Given the description of an element on the screen output the (x, y) to click on. 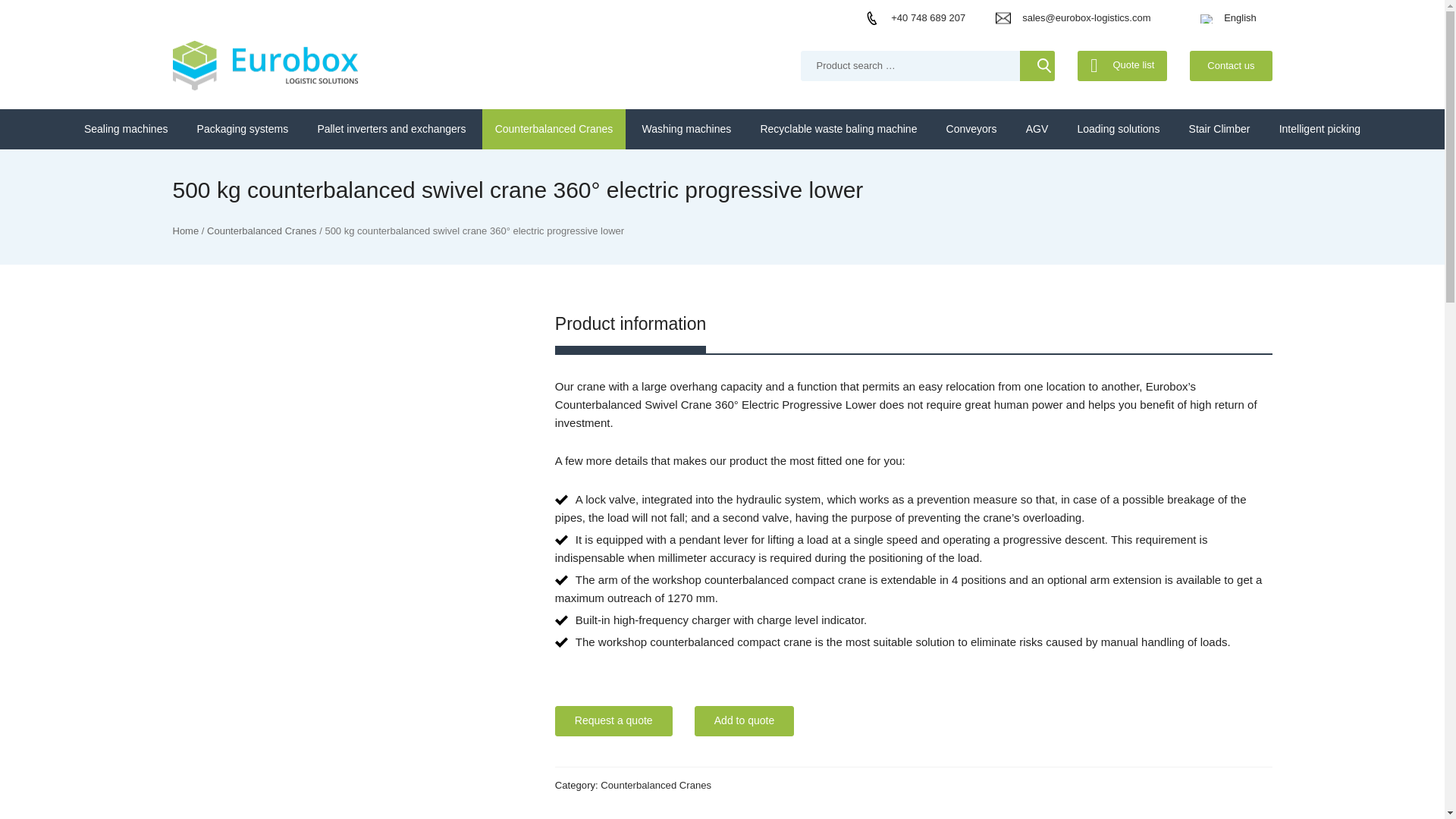
Quote list (1122, 65)
Loading solutions (1118, 128)
Intelligent picking (1319, 128)
Packaging systems (242, 128)
AGV (1037, 128)
Pallet inverters and exchangers (391, 128)
Conveyors (971, 128)
Counterbalanced Cranes (261, 230)
Add to quote (743, 720)
Stair Climber (1219, 128)
Home (186, 230)
Washing machines (686, 128)
Recyclable waste baling machine (838, 128)
Counterbalanced Cranes (553, 128)
Sealing machines (125, 128)
